Given the description of an element on the screen output the (x, y) to click on. 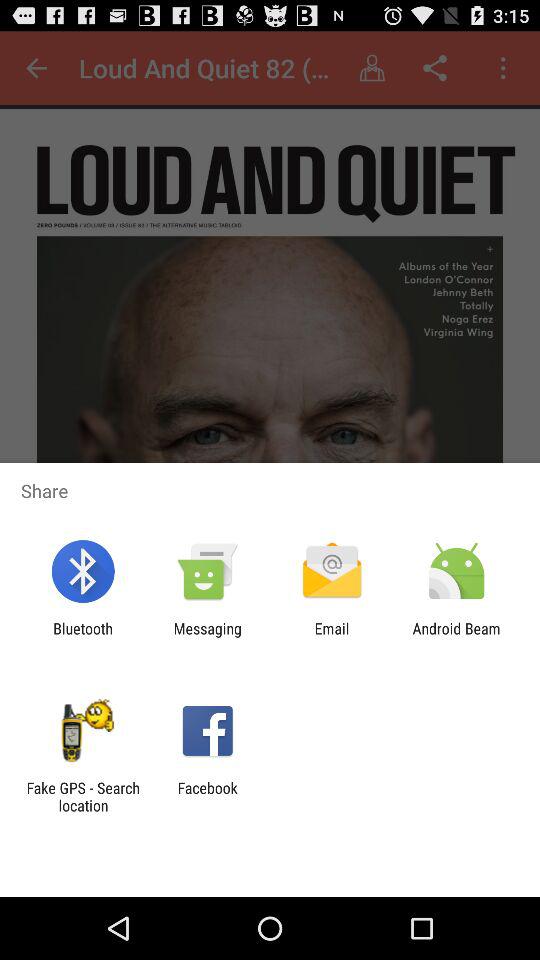
scroll until the bluetooth item (82, 637)
